Given the description of an element on the screen output the (x, y) to click on. 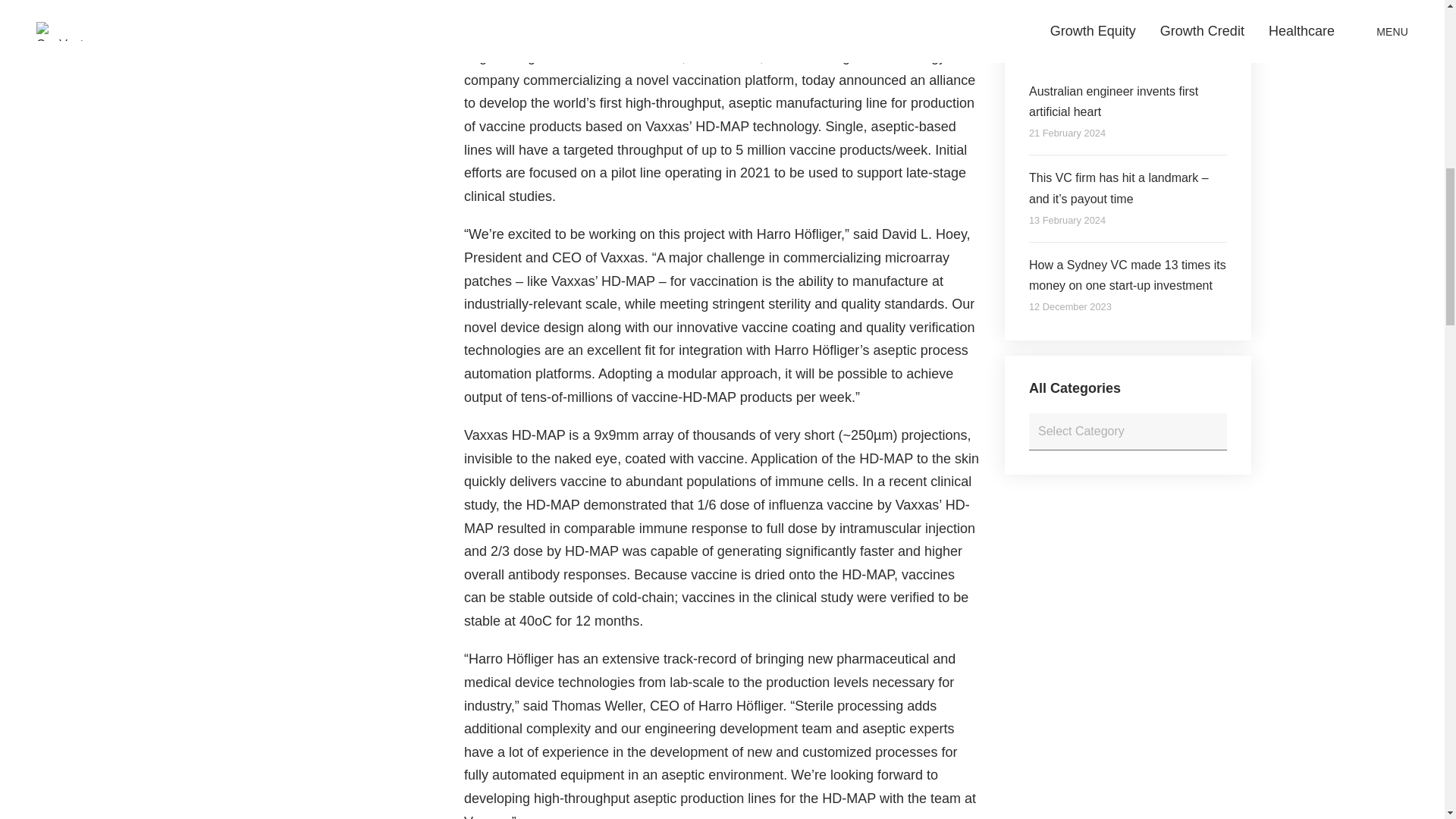
Australian engineer invents first artificial heart (1128, 101)
